Given the description of an element on the screen output the (x, y) to click on. 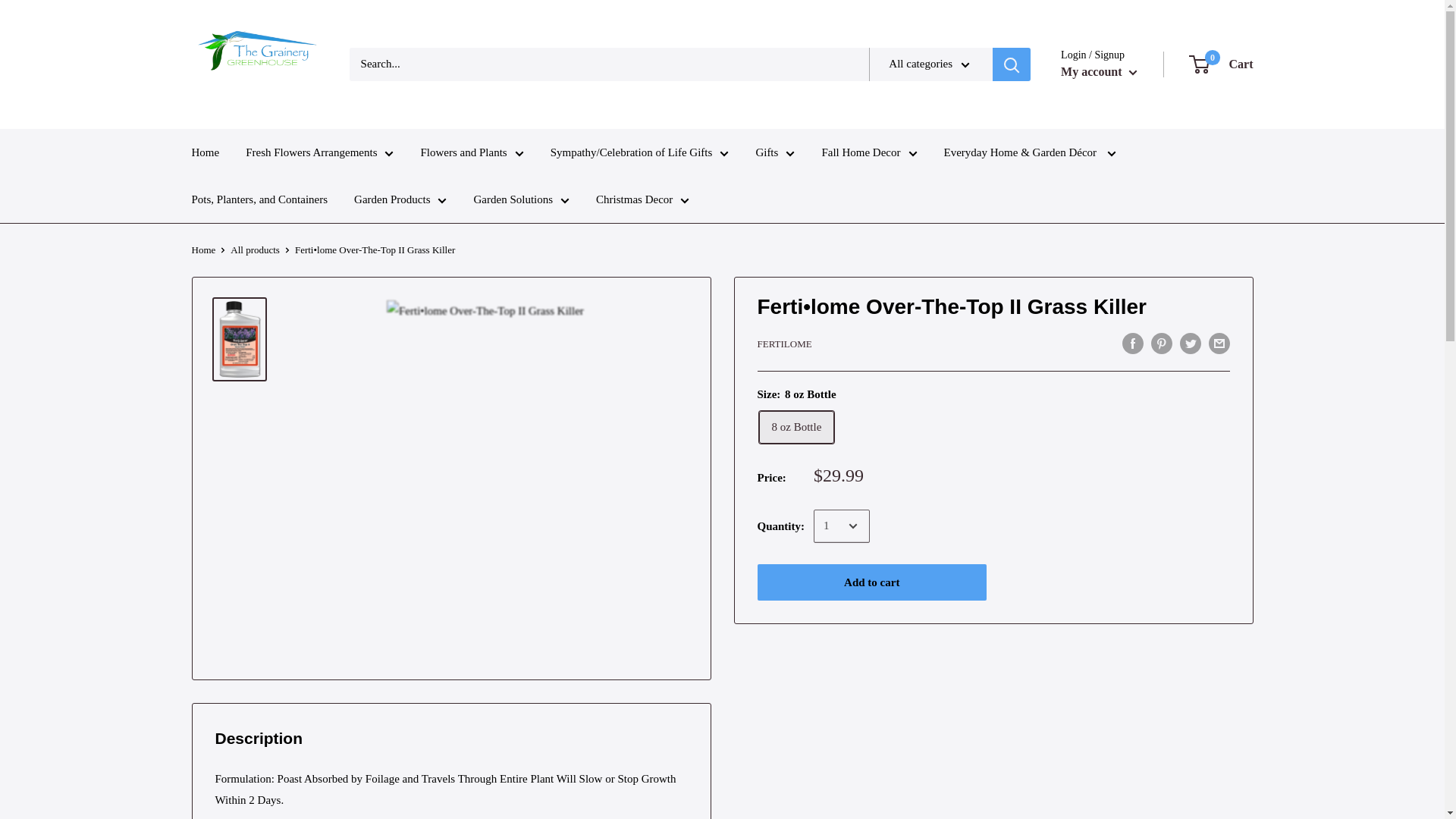
8 oz Bottle (796, 427)
